Given the description of an element on the screen output the (x, y) to click on. 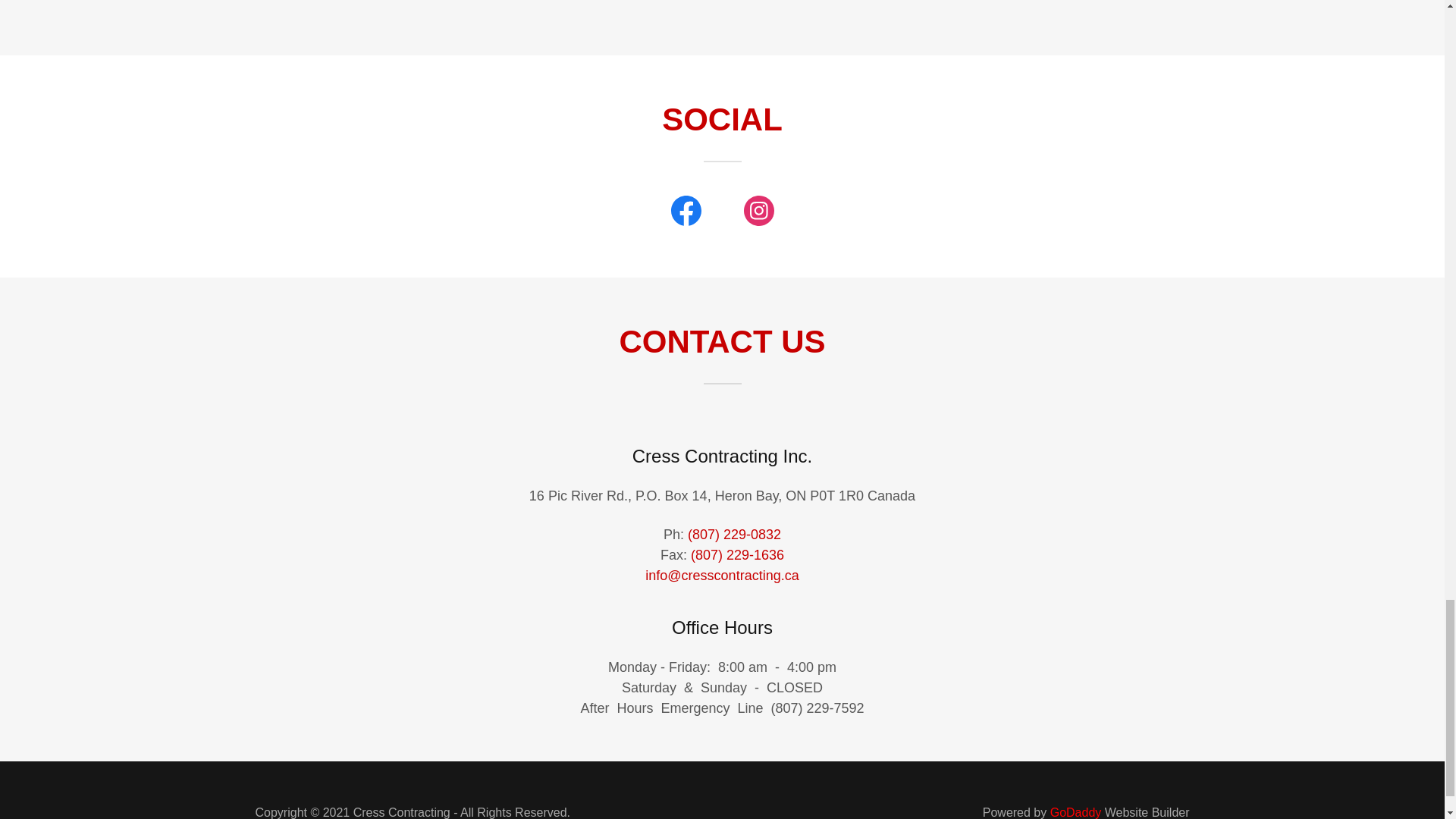
GoDaddy (1075, 812)
